Given the description of an element on the screen output the (x, y) to click on. 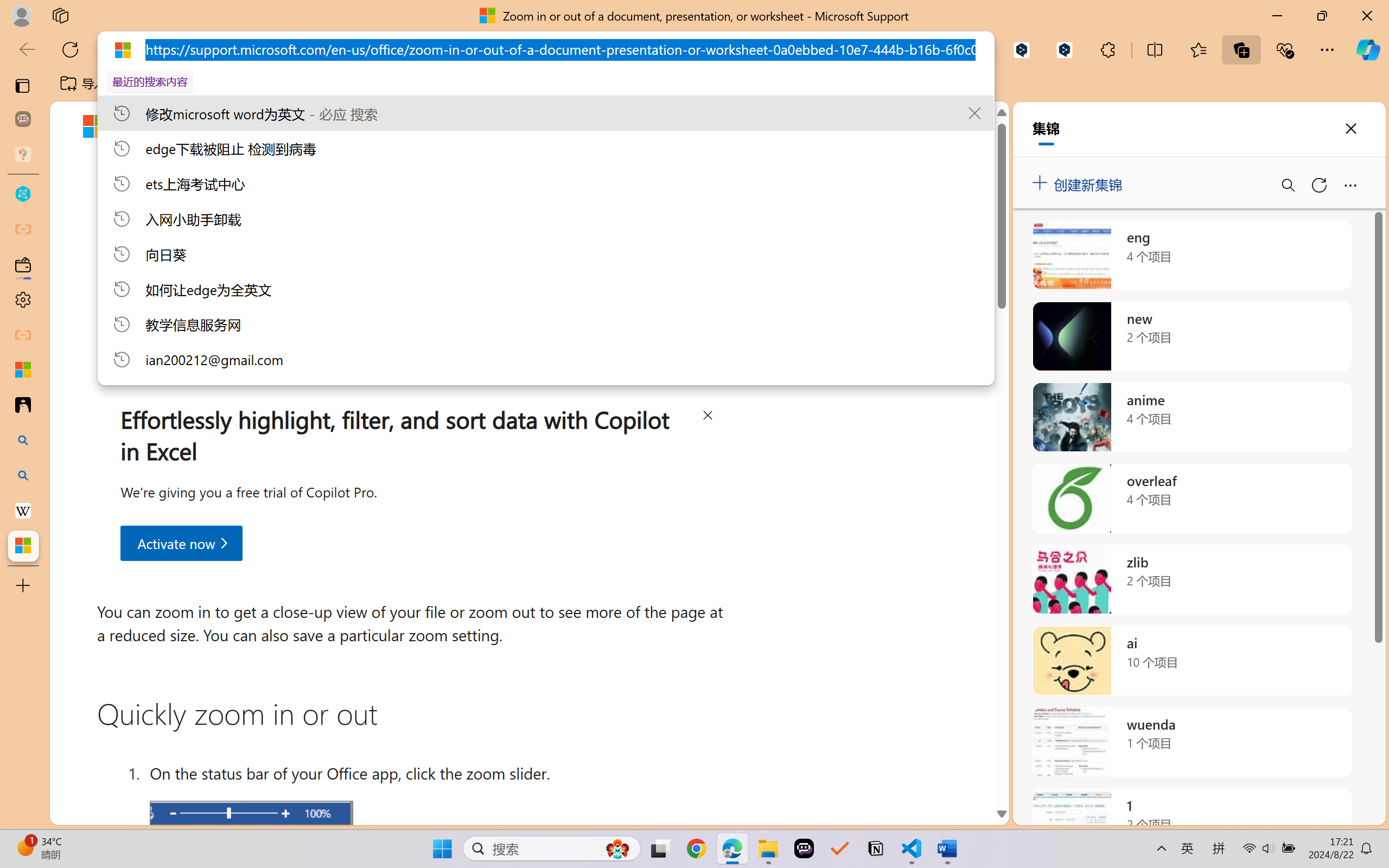
Office (426, 125)
Microsoft 365 (351, 125)
More (576, 126)
Buy Microsoft 365 (673, 127)
Microsoft 365 (351, 125)
Copilot (Ctrl+Shift+.) (1368, 49)
Support (262, 128)
